Given the description of an element on the screen output the (x, y) to click on. 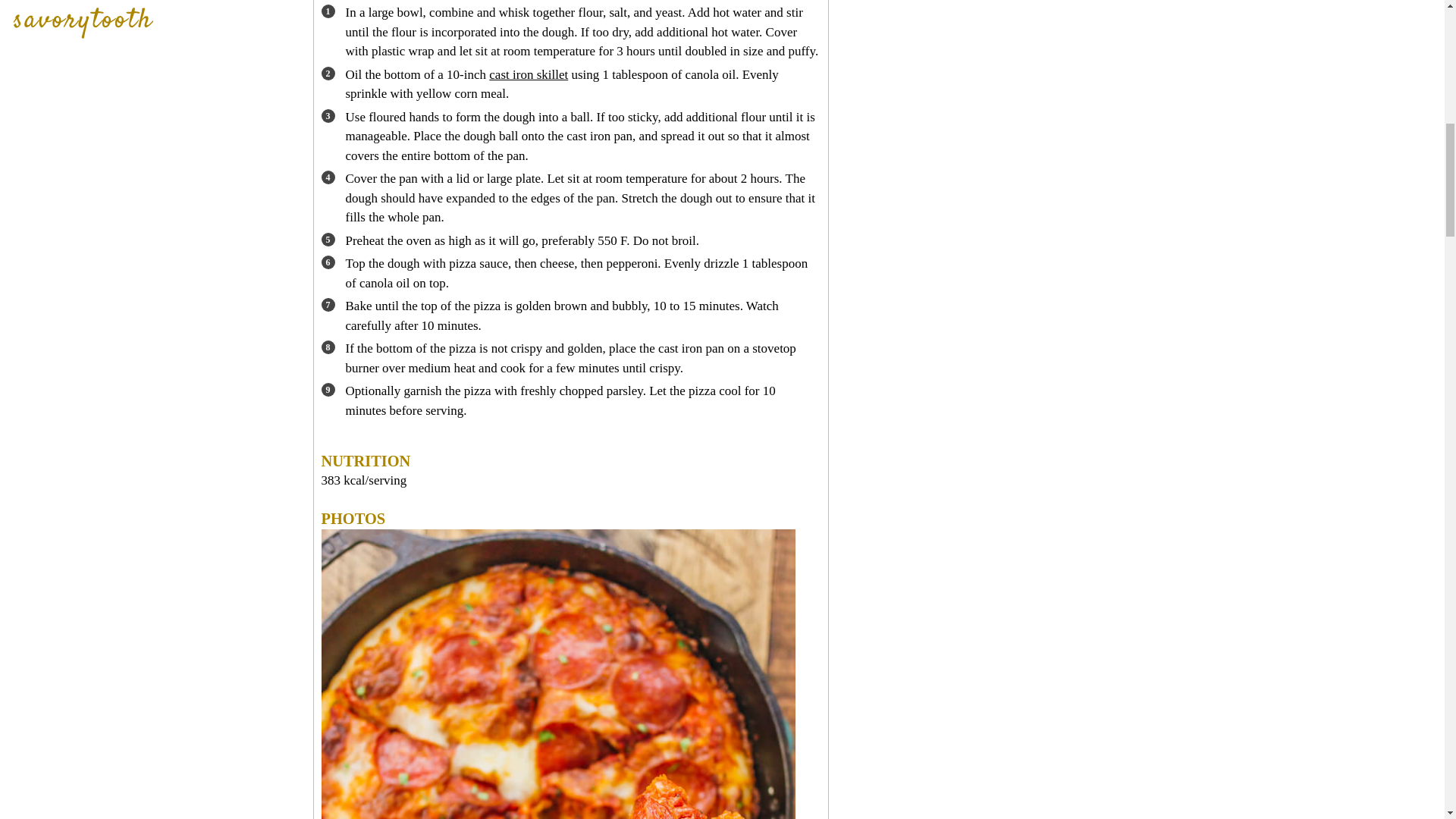
cast iron skillet (528, 74)
